Given the description of an element on the screen output the (x, y) to click on. 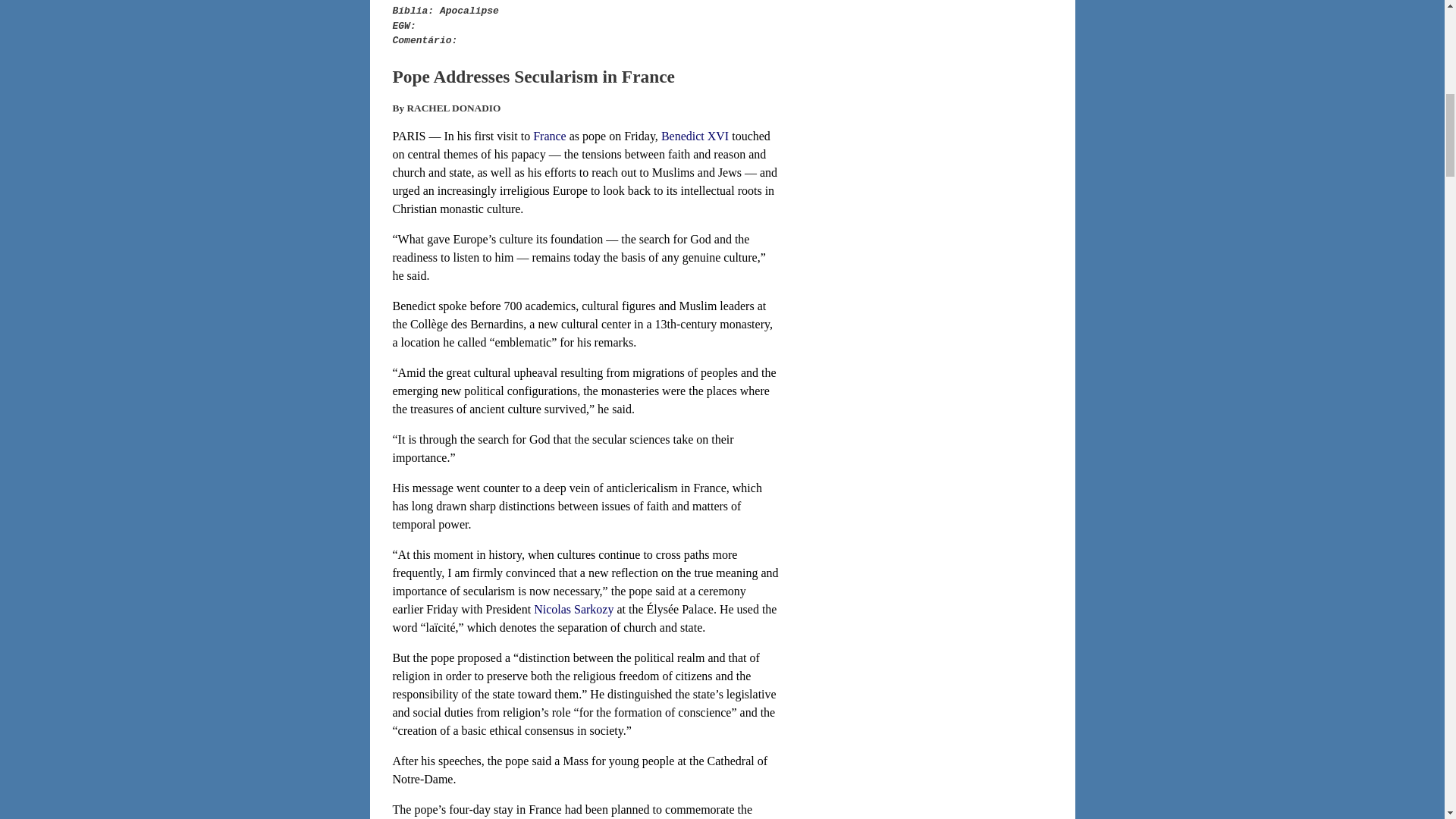
More articles about Nicolas Sarkozy (573, 608)
Nicolas Sarkozy (573, 608)
France (549, 135)
Benedict XVI (695, 135)
More news and information about France. (549, 135)
More articles about Benedict XVI. (695, 135)
